Given the description of an element on the screen output the (x, y) to click on. 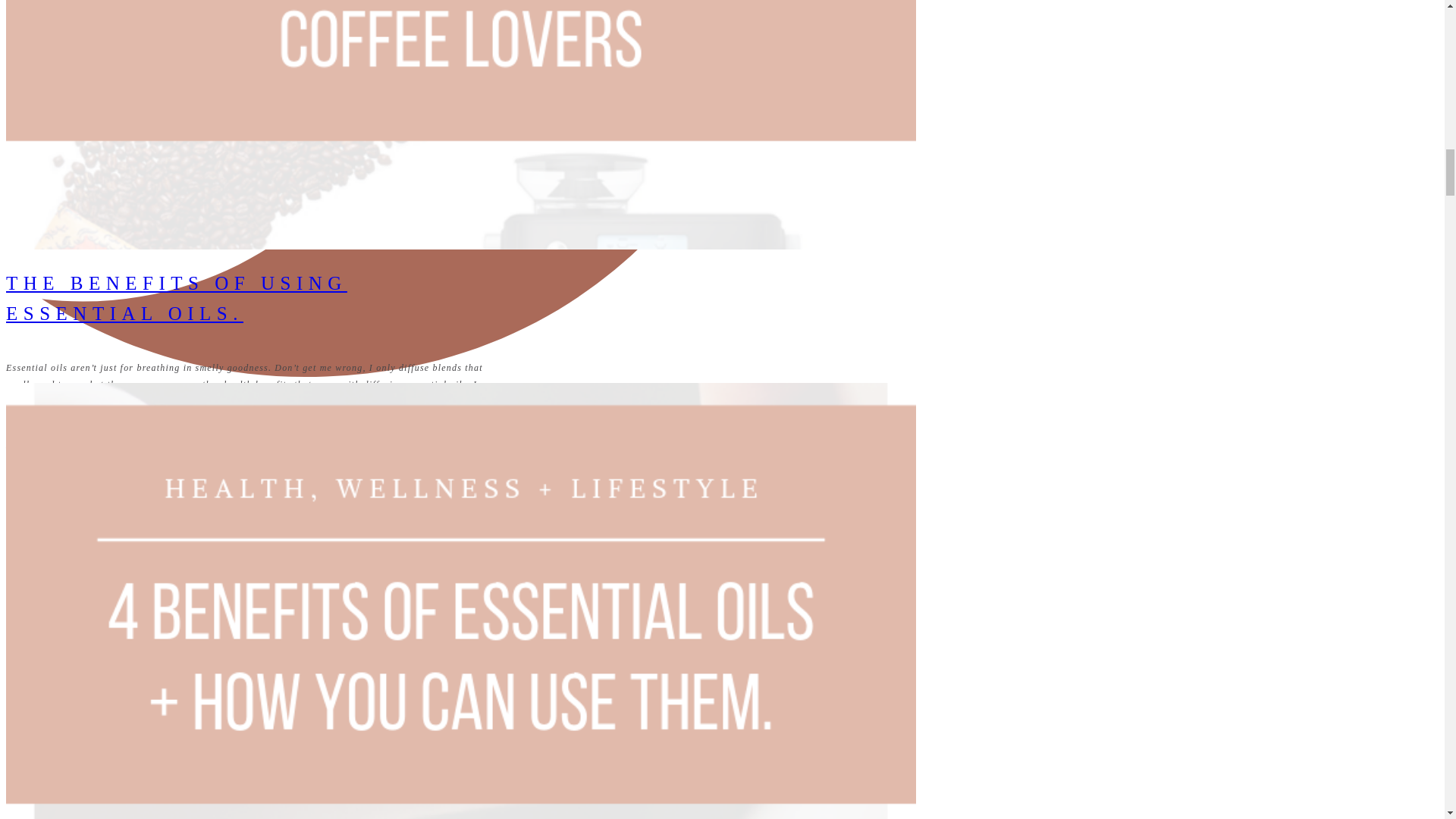
Holiday Gift Guide 2019: The One For The Traveller (460, 131)
Holiday Gift Guide 2019: The One For The Traveller (460, 58)
